Given the description of an element on the screen output the (x, y) to click on. 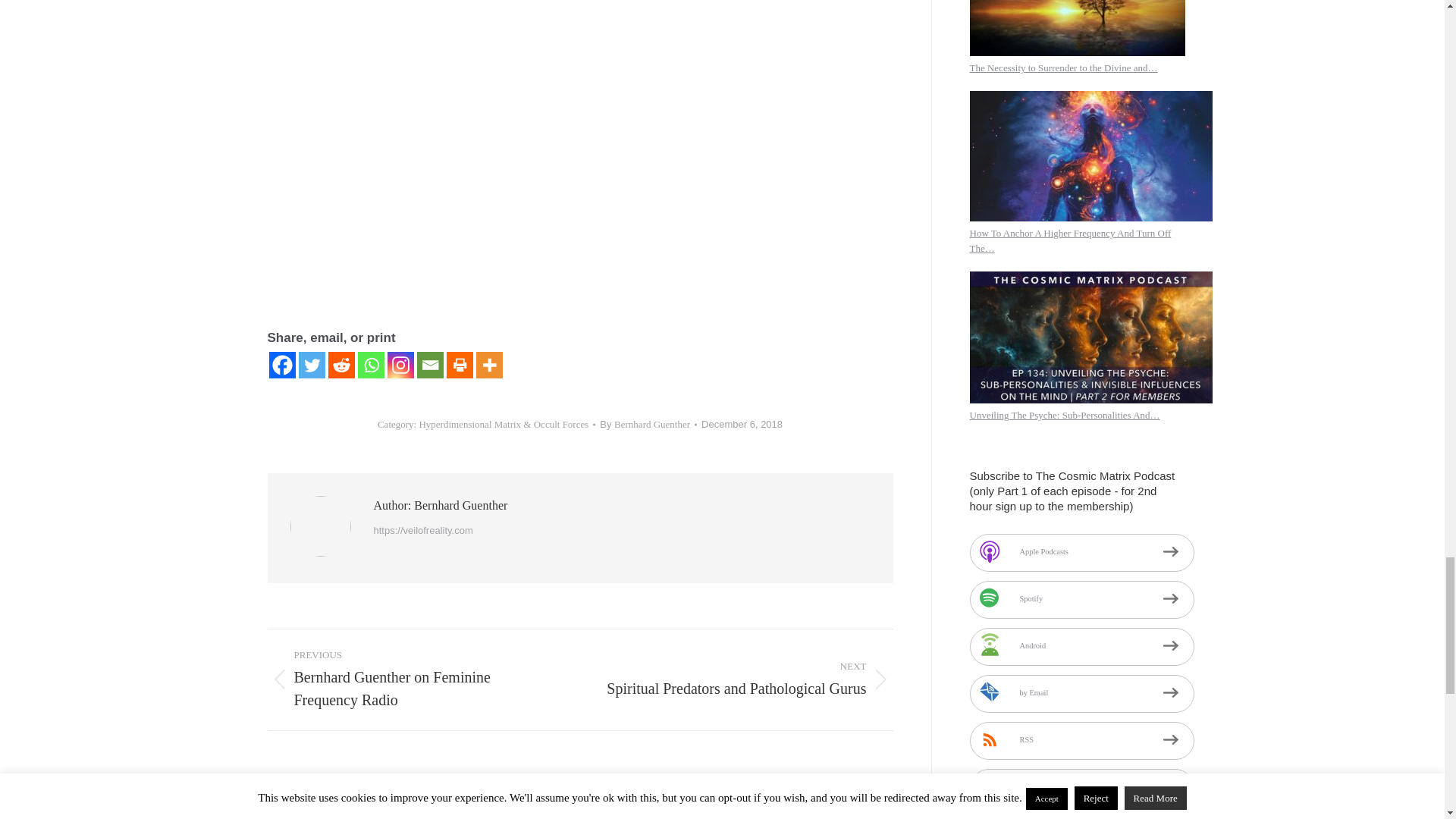
7:40 pm (742, 424)
Twitter (311, 365)
Print (458, 365)
More (489, 365)
Email (430, 365)
Instagram (400, 365)
Facebook (281, 365)
Reddit (340, 365)
Whatsapp (371, 365)
View all posts by Bernhard Guenther (648, 424)
